Given the description of an element on the screen output the (x, y) to click on. 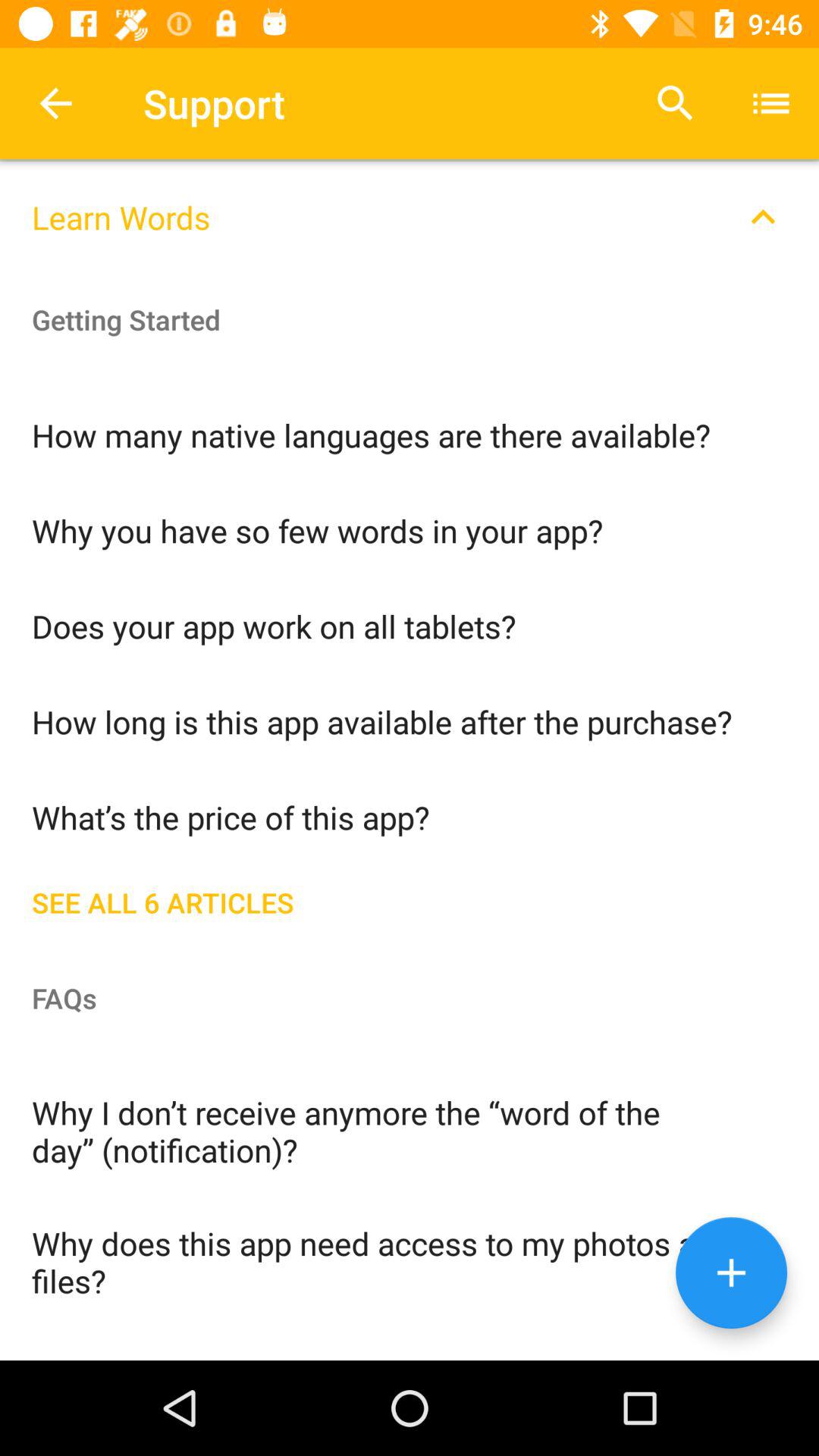
click the icon below the faqs item (409, 1129)
